Given the description of an element on the screen output the (x, y) to click on. 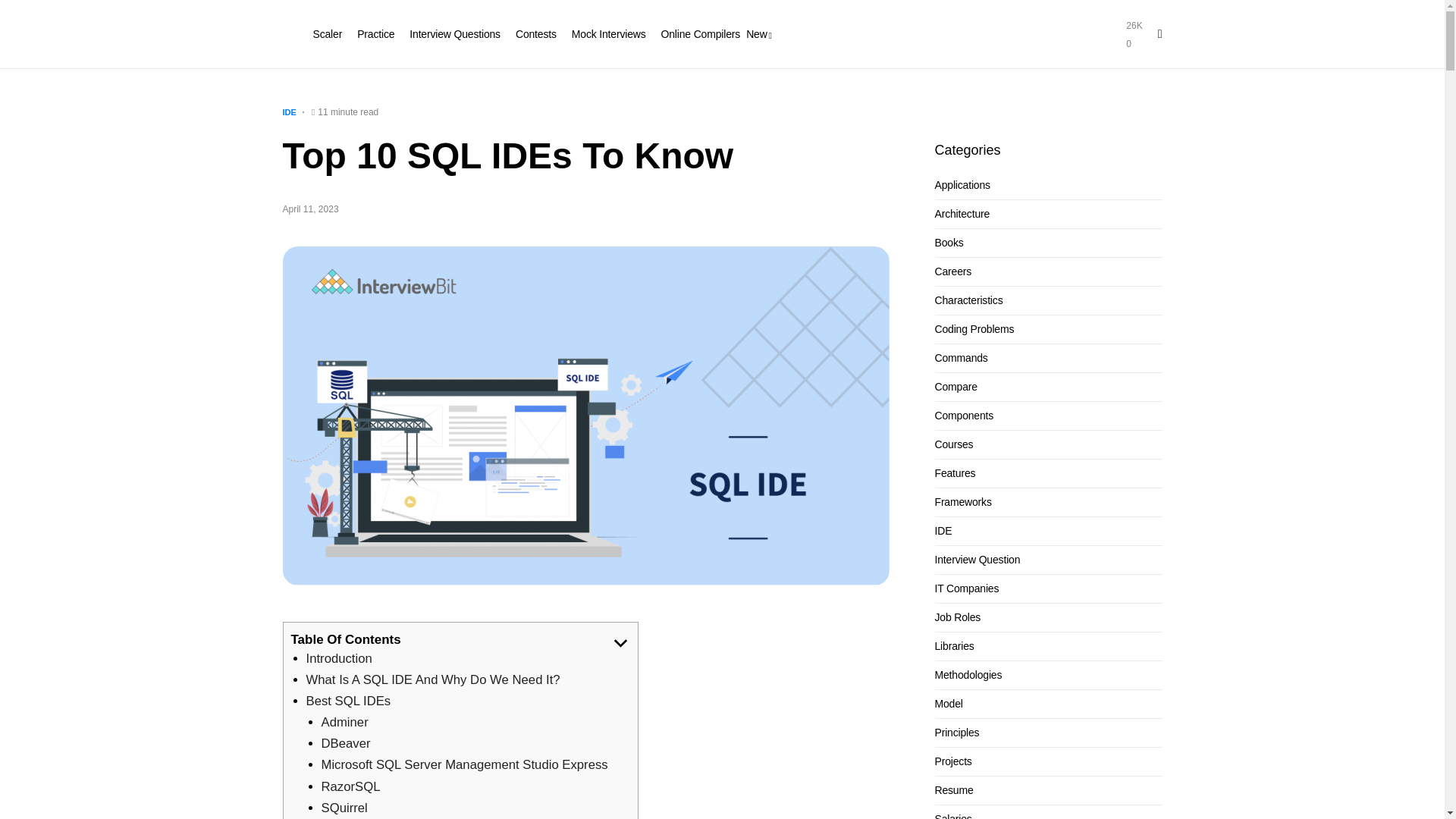
Microsoft SQL Server Management Studio Express (464, 764)
Adminer (344, 721)
Introduction (338, 658)
IDE (288, 112)
RazorSQL (350, 786)
26K (1133, 25)
Mock Interviews (609, 33)
Best SQL IDEs (348, 700)
0 (716, 33)
Interview Questions (1133, 43)
DBeaver (454, 33)
SQuirrel (346, 743)
What Is A SQL IDE And Why Do We Need It? (344, 807)
